Given the description of an element on the screen output the (x, y) to click on. 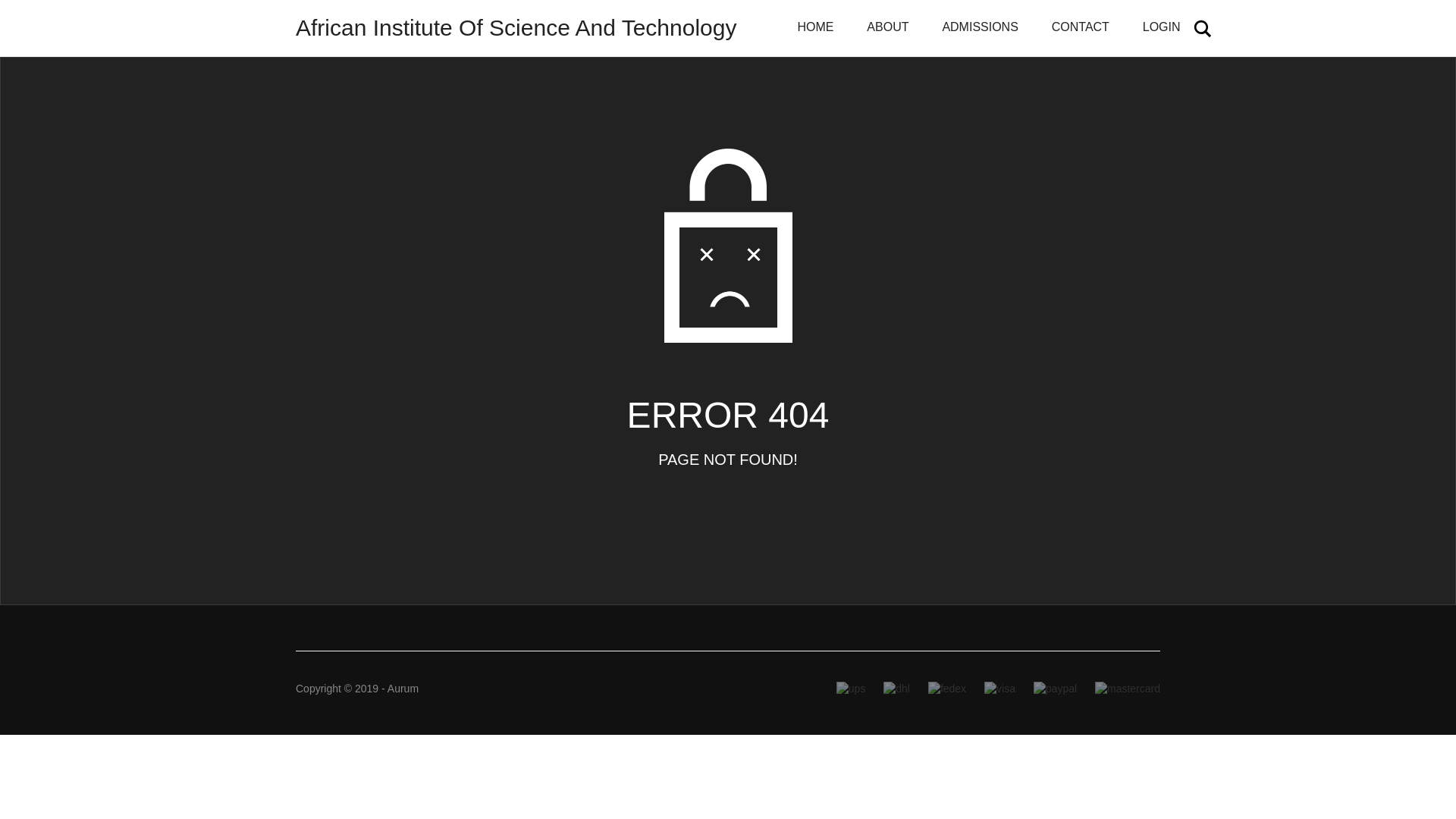
Search (1202, 28)
African Institute Of Science And Technology (515, 27)
LOGIN (1160, 28)
CONTACT (1080, 28)
ADMISSIONS (979, 28)
HOME (814, 28)
ABOUT (887, 28)
